Given the description of an element on the screen output the (x, y) to click on. 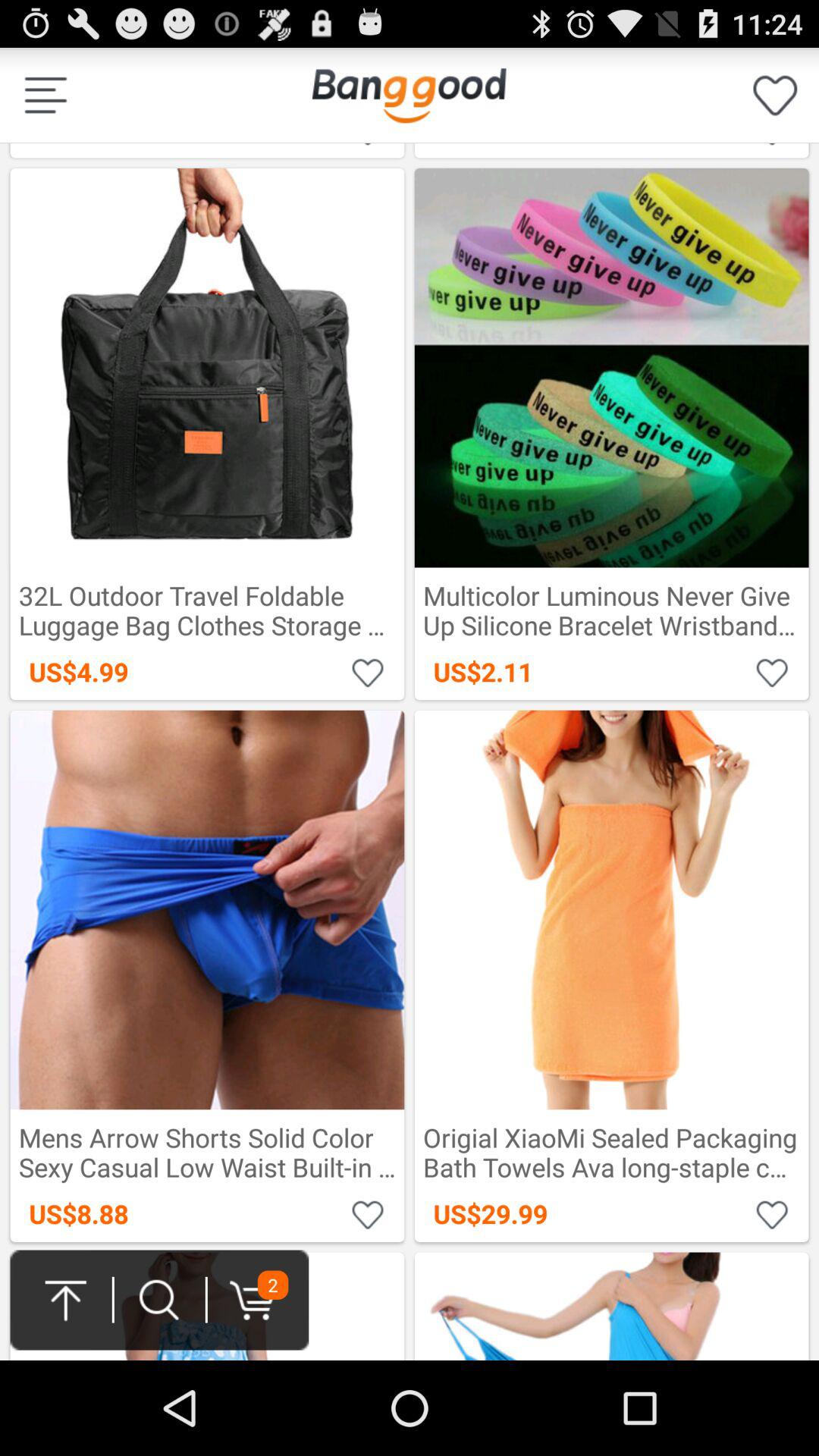
click to like (772, 1213)
